Given the description of an element on the screen output the (x, y) to click on. 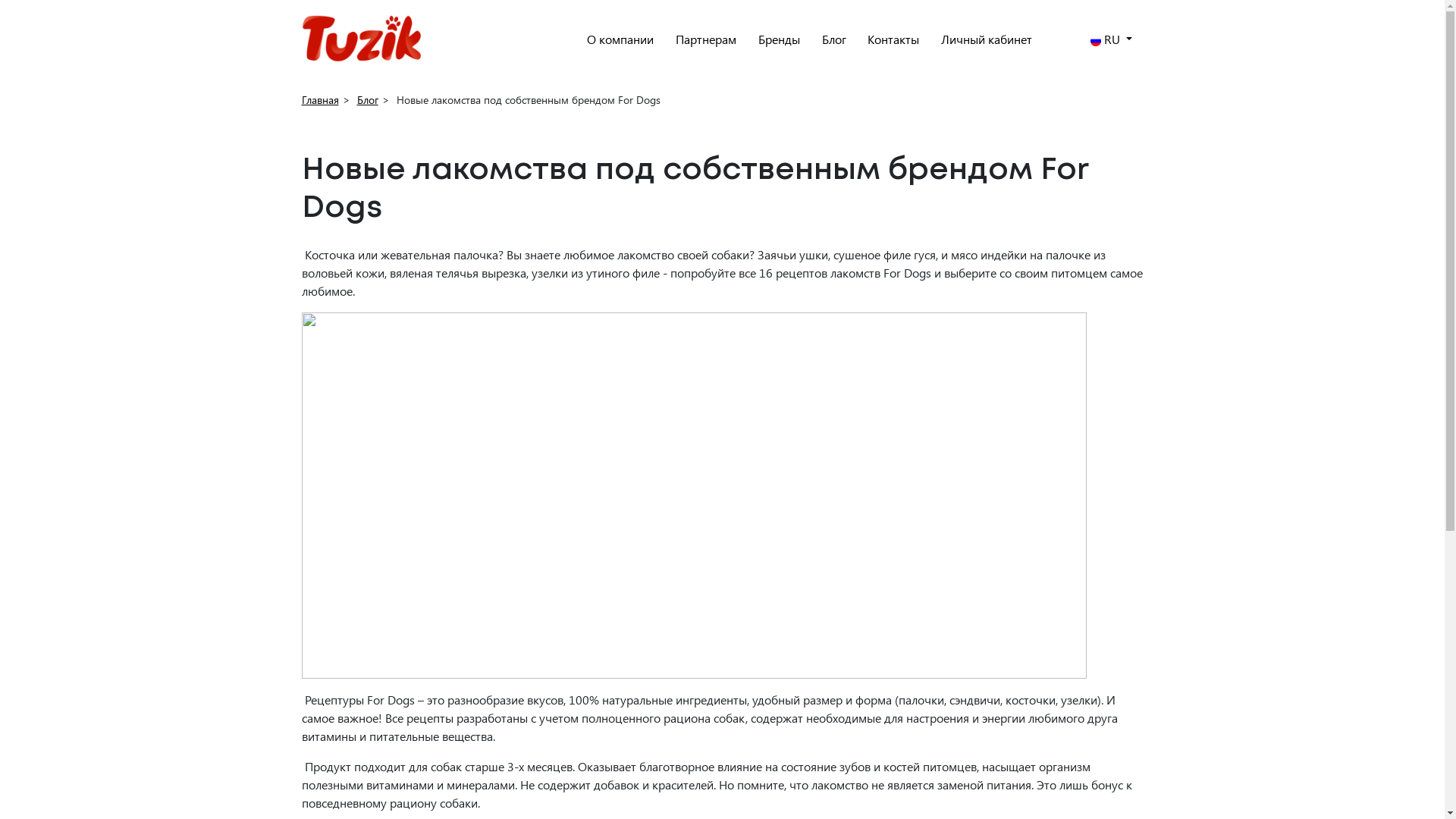
RU Element type: text (1111, 39)
